Given the description of an element on the screen output the (x, y) to click on. 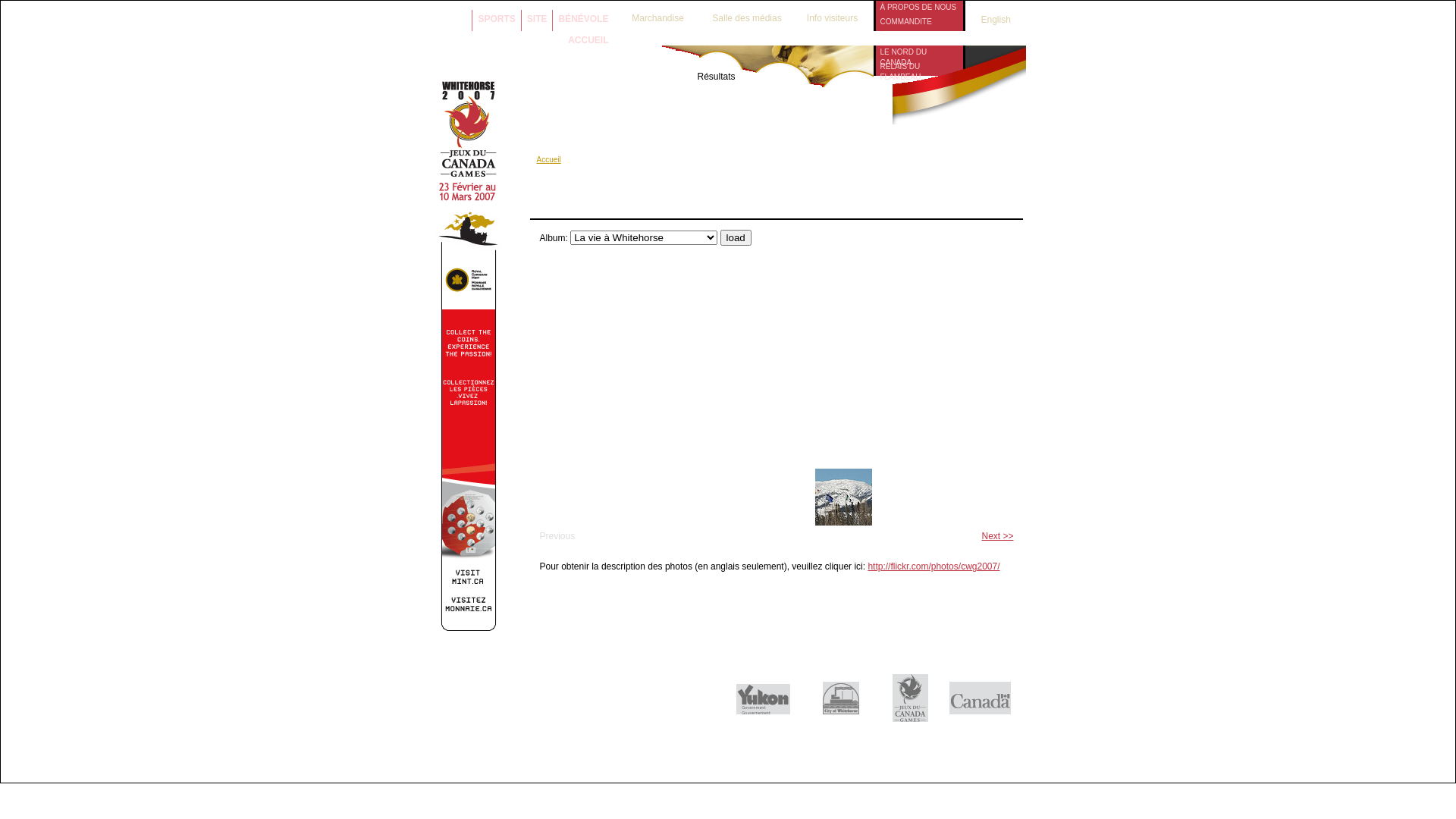
COMMANDITE Element type: text (918, 21)
load Element type: text (735, 237)
ACCUEIL Element type: text (587, 38)
Culture Element type: text (779, 92)
Mint Element type: hover (468, 627)
SPORTS Element type: text (496, 16)
LE NORD DU CANADA Element type: text (918, 51)
Info visiteurs Element type: text (832, 13)
http://flickr.com/photos/cwg2007/ Element type: text (933, 566)
English Element type: text (988, 19)
SITE Element type: text (536, 16)
Accueil Element type: text (548, 159)
Marchandise Element type: text (657, 13)
Next >> Element type: text (997, 535)
RELAIS DU FLAMBEAU Element type: text (918, 65)
Galerie
de
 Photos Element type: text (853, 105)
